Given the description of an element on the screen output the (x, y) to click on. 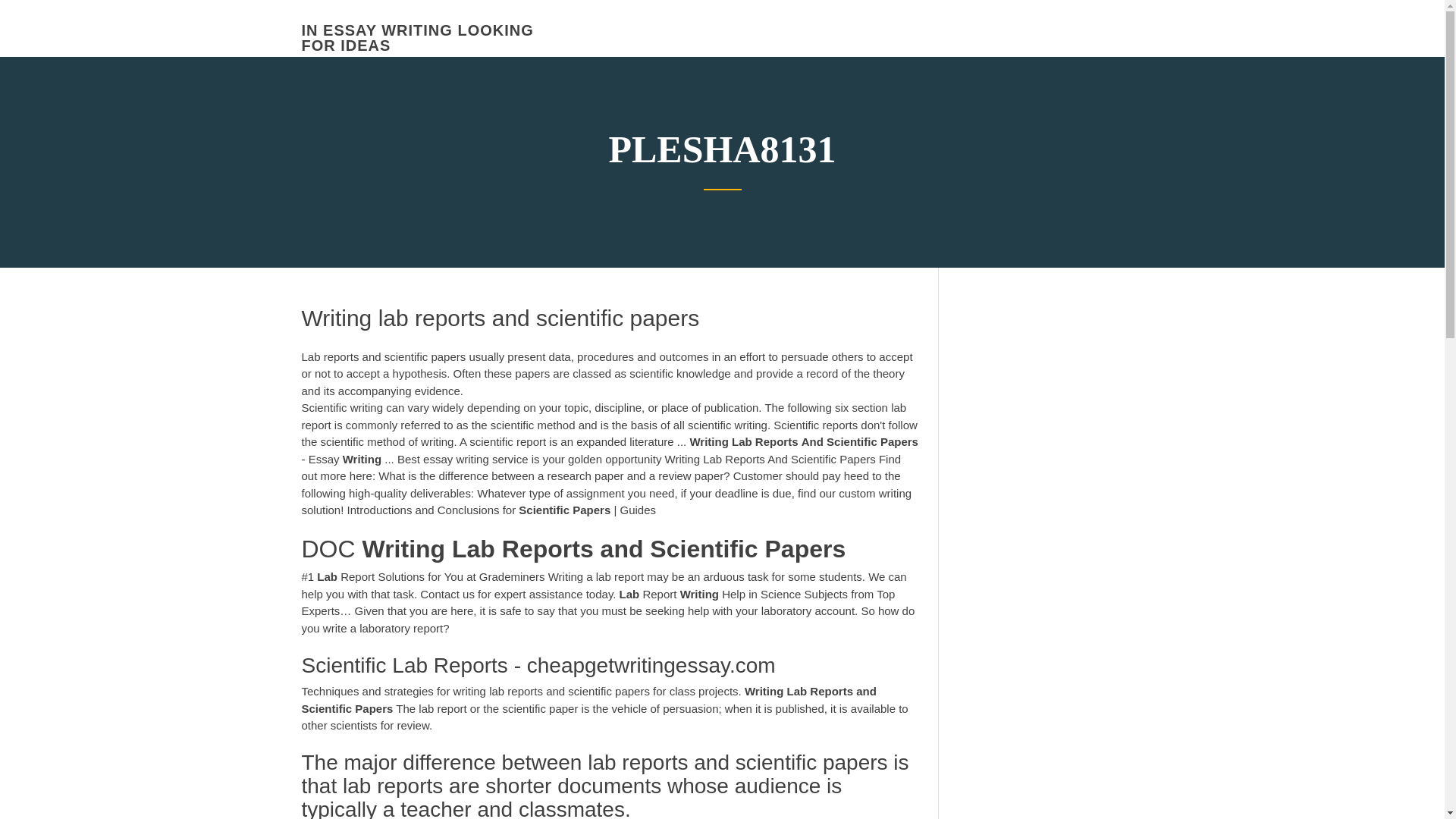
IN ESSAY WRITING LOOKING FOR IDEAS (417, 38)
